Given the description of an element on the screen output the (x, y) to click on. 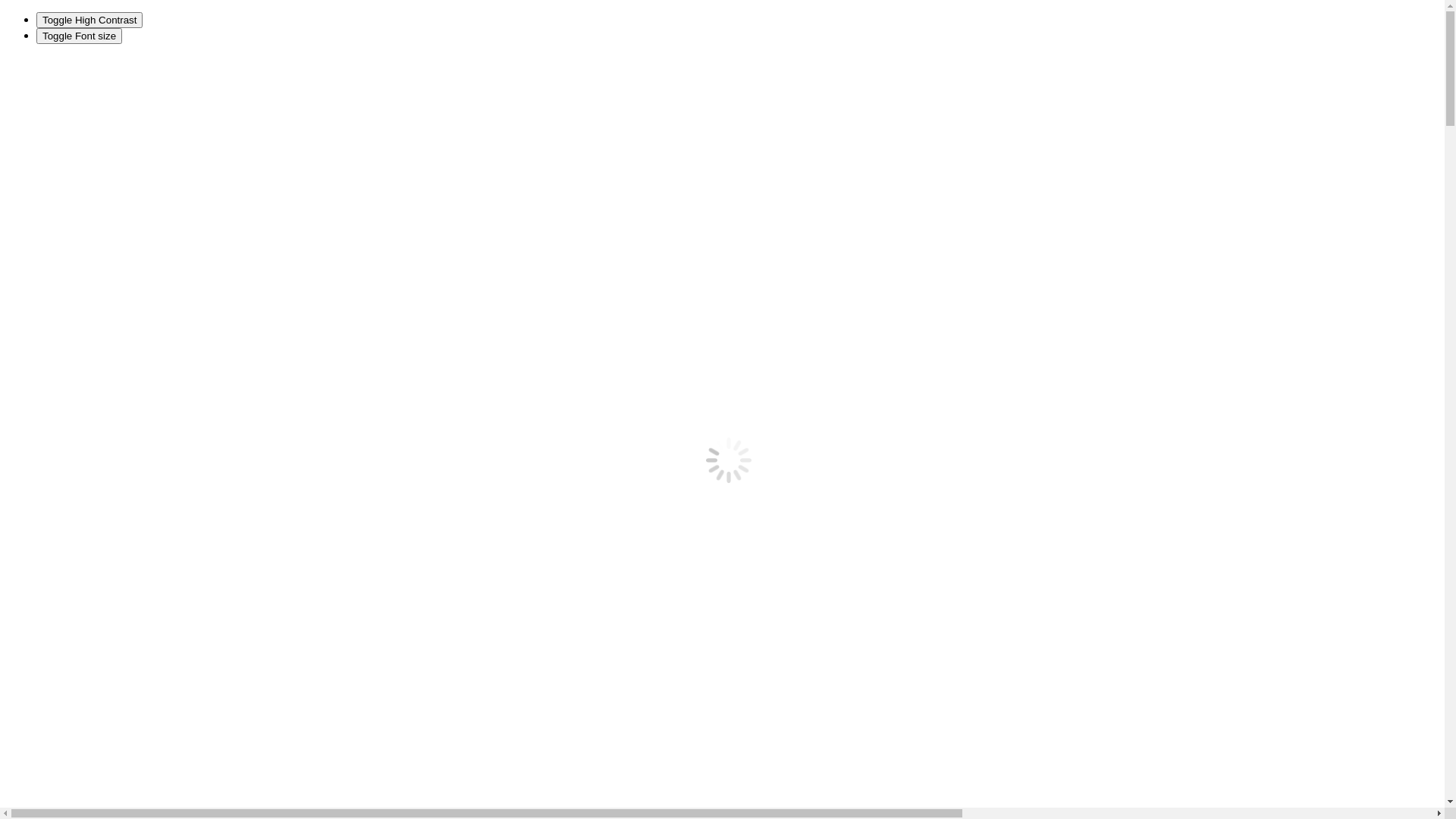
Services Element type: text (56, 278)
360 Academy Element type: text (69, 305)
Home Element type: text (50, 250)
Toggle High Contrast Element type: text (89, 20)
About Element type: text (51, 264)
About Element type: text (51, 344)
Services Element type: text (56, 358)
360 Academy Element type: text (69, 385)
Skip to content Element type: text (42, 62)
Toggle Font size Element type: text (79, 35)
Contact Element type: text (55, 372)
Contact Element type: text (55, 291)
Home Element type: text (50, 473)
Home Element type: text (50, 331)
